Given the description of an element on the screen output the (x, y) to click on. 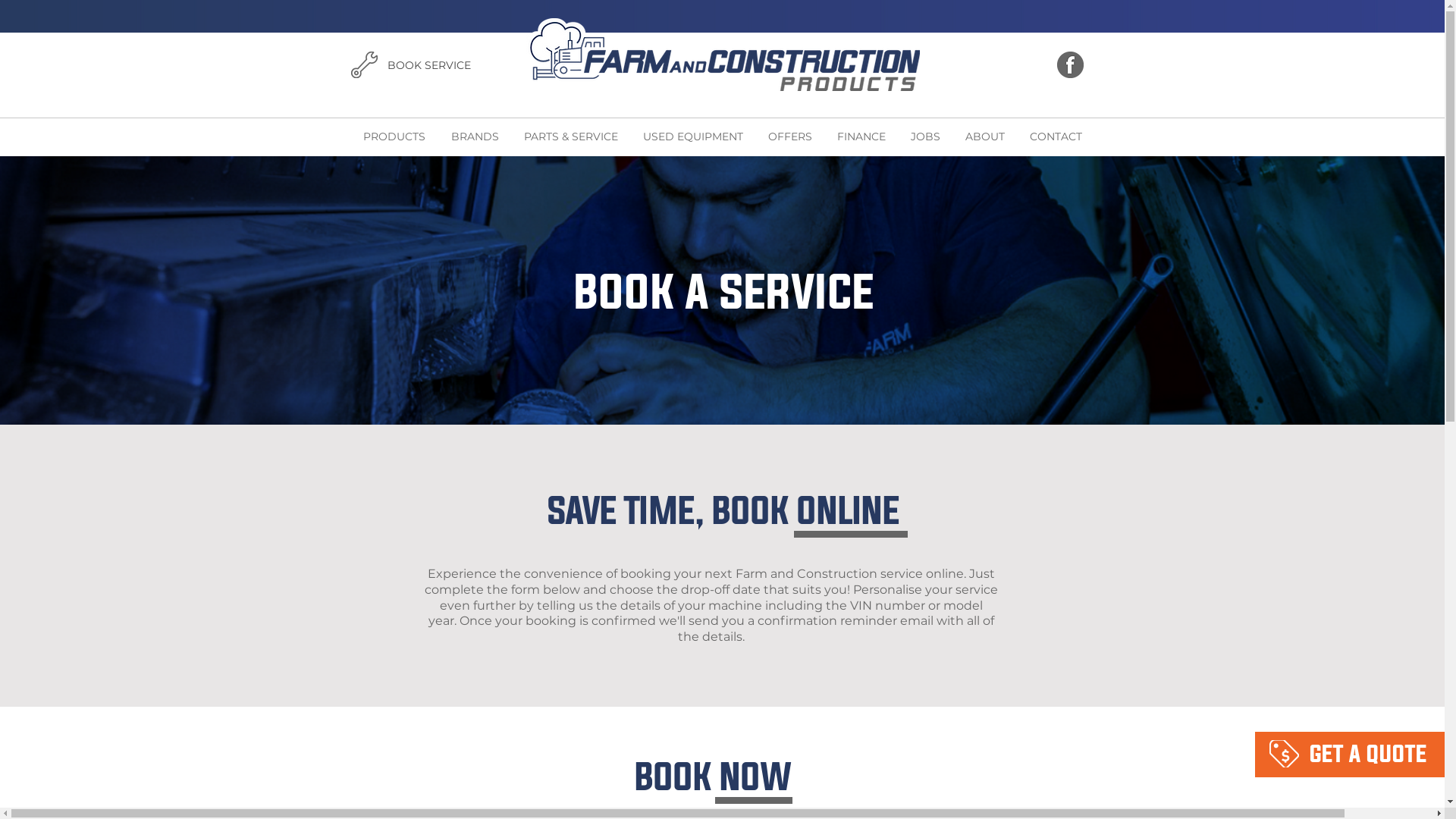
ABOUT Element type: text (984, 136)
GET A QUOTE Element type: text (239, 63)
0 Element type: text (1280, 65)
CONTACT Element type: text (1054, 136)
JOBS Element type: text (924, 136)
BRANDS Element type: text (474, 136)
GET A QUOTE Element type: text (1368, 753)
PRODUCTS Element type: text (393, 136)
FINANCE Element type: text (860, 136)
USED EQUIPMENT Element type: text (691, 136)
BOOK SERVICE Element type: text (1353, 65)
PARTS & SERVICE Element type: text (570, 136)
BOOK SERVICE Element type: text (428, 65)
